Given the description of an element on the screen output the (x, y) to click on. 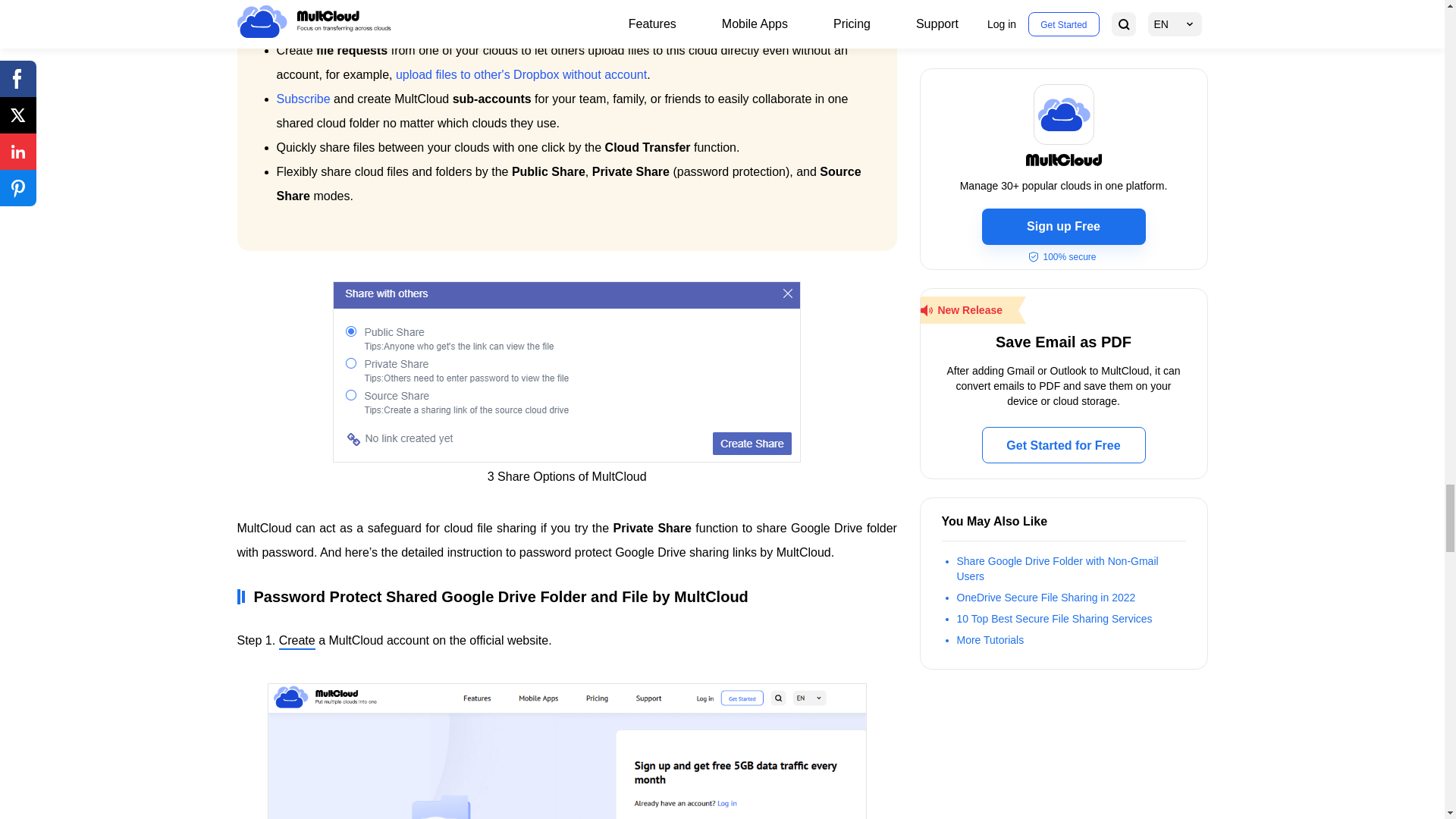
upload files to other's Dropbox without account (521, 74)
Subscribe (303, 98)
Create (297, 641)
Create (297, 641)
Subscribe (303, 98)
